Given the description of an element on the screen output the (x, y) to click on. 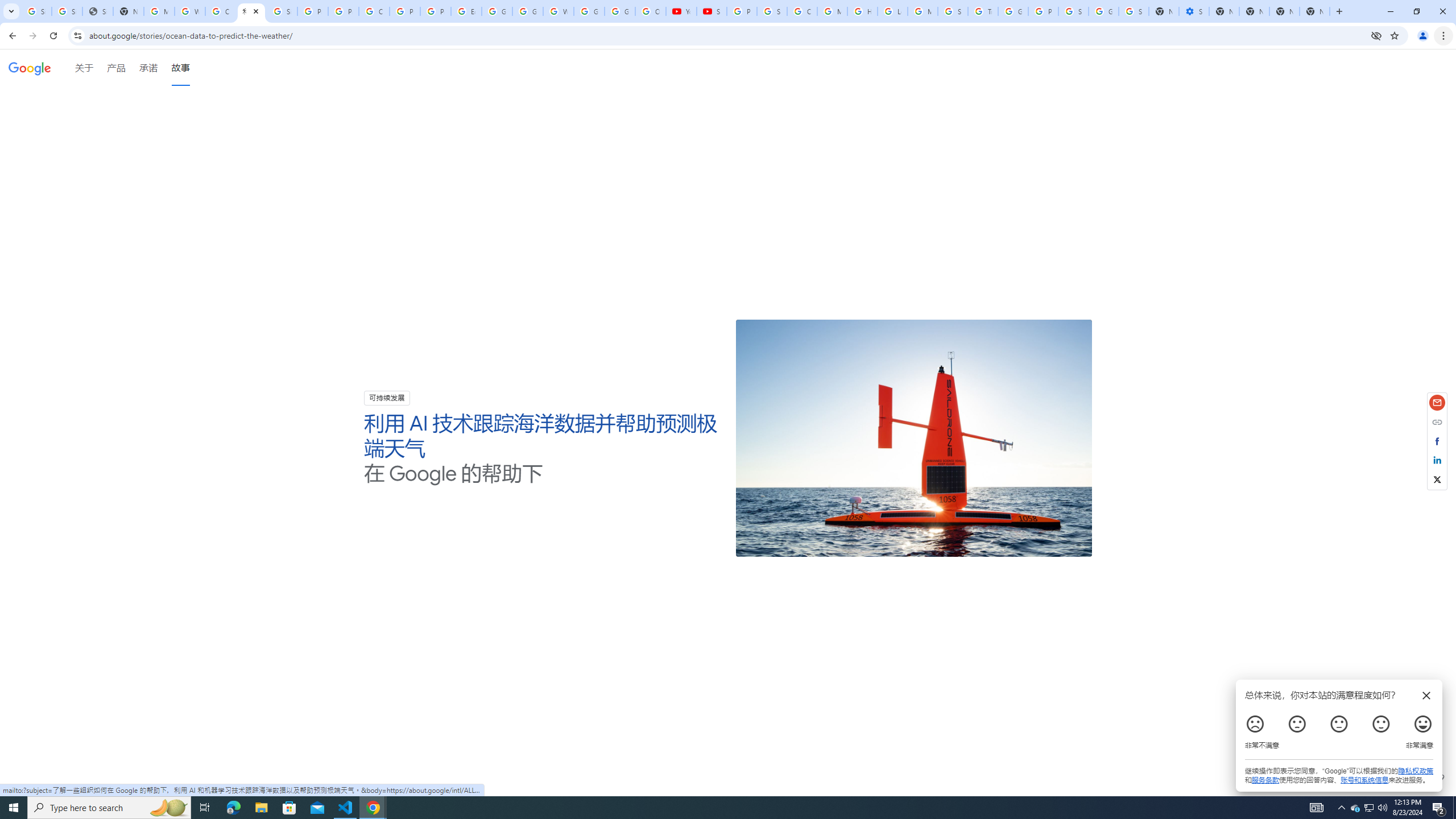
Google Ads - Sign in (1012, 11)
Edit and view right-to-left text - Google Docs Editors Help (465, 11)
Google Account (619, 11)
